Given the description of an element on the screen output the (x, y) to click on. 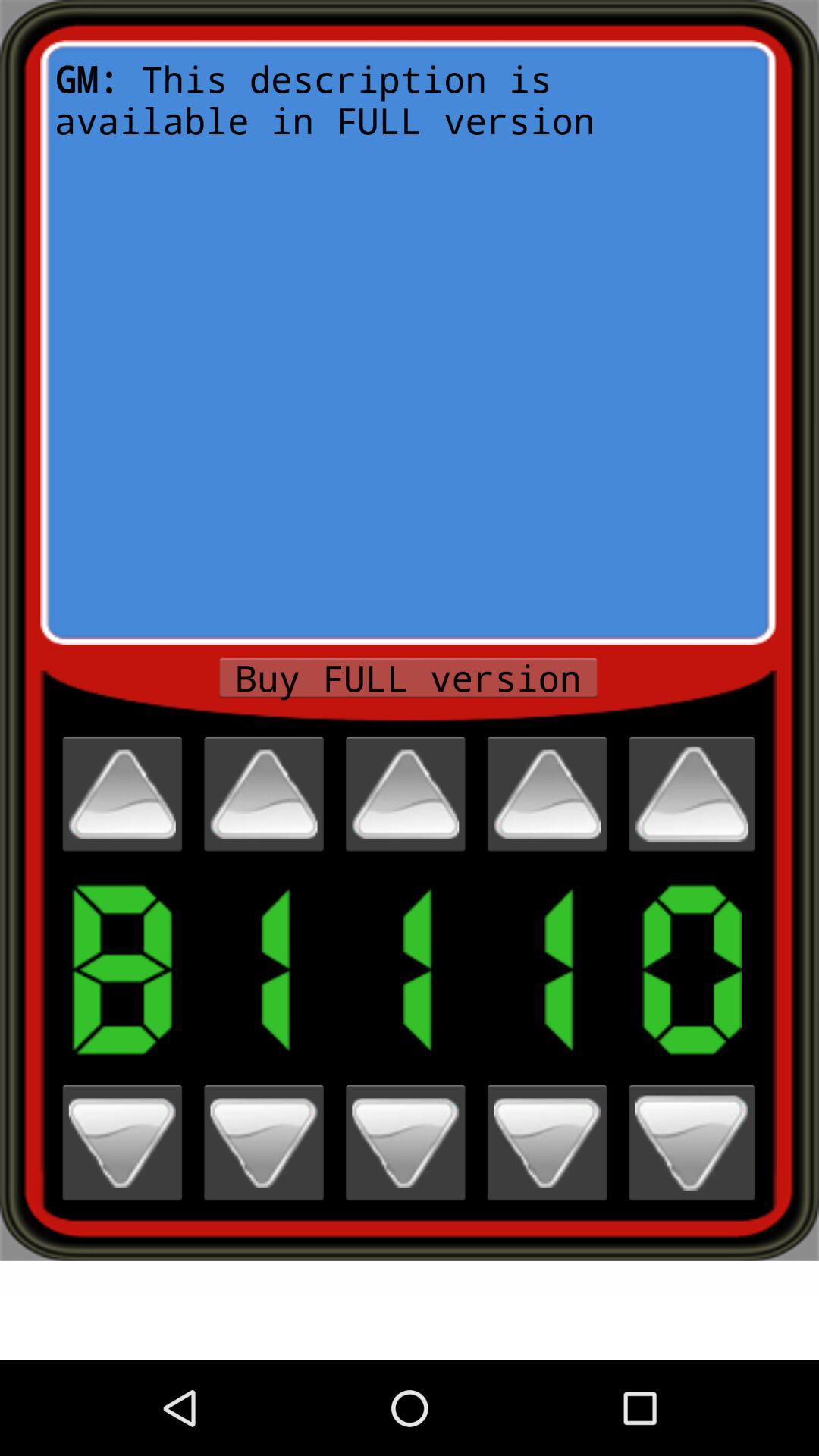
toggle fourth number down (546, 1142)
